Given the description of an element on the screen output the (x, y) to click on. 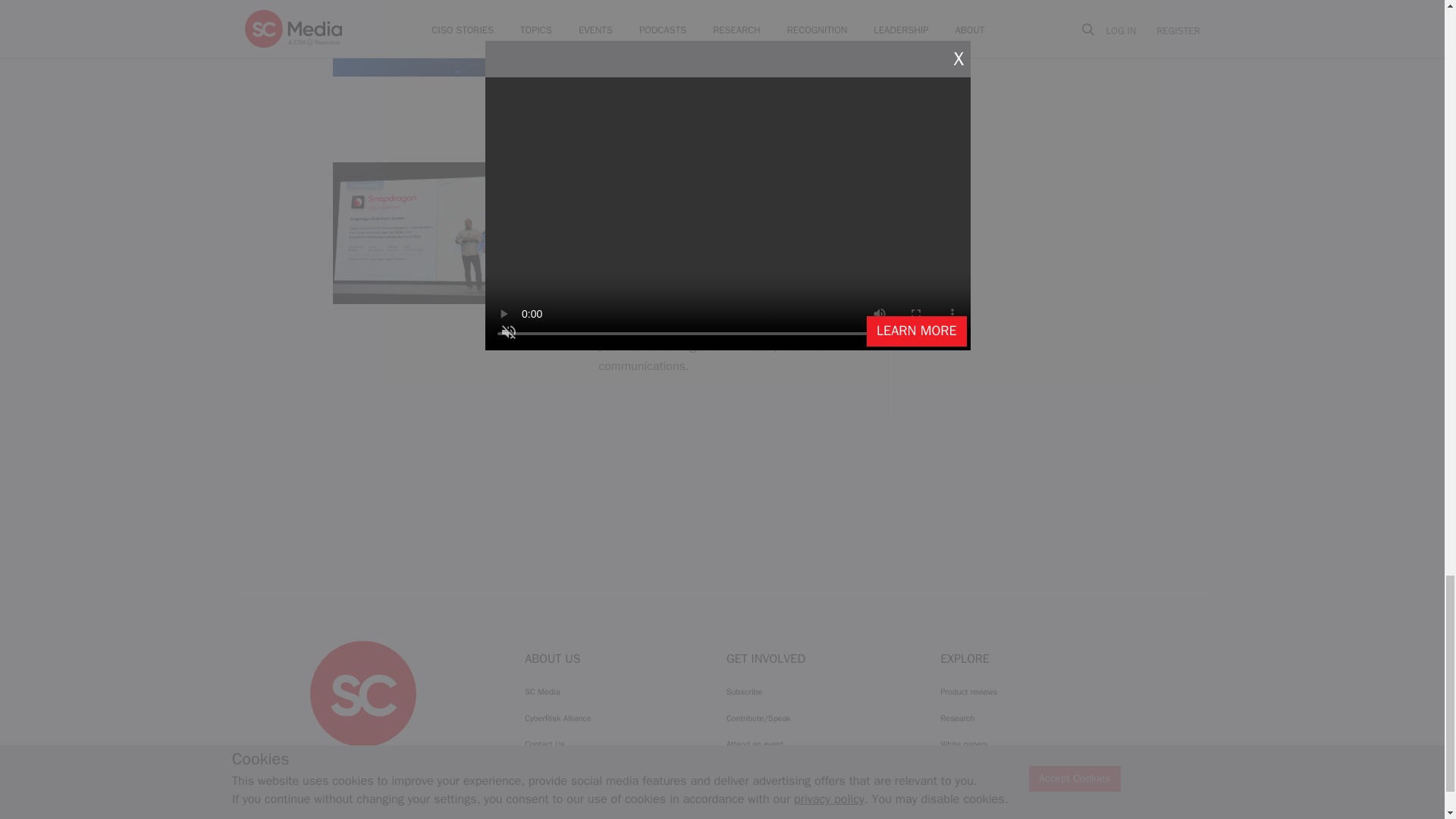
Menghan Xiao (626, 241)
SCMagazine on LinkedIn (401, 760)
SC Media (362, 693)
SCMagazine on Twitter (362, 760)
SCMagazine on Facebook (324, 760)
Paul Wagenseil (628, 34)
